Given the description of an element on the screen output the (x, y) to click on. 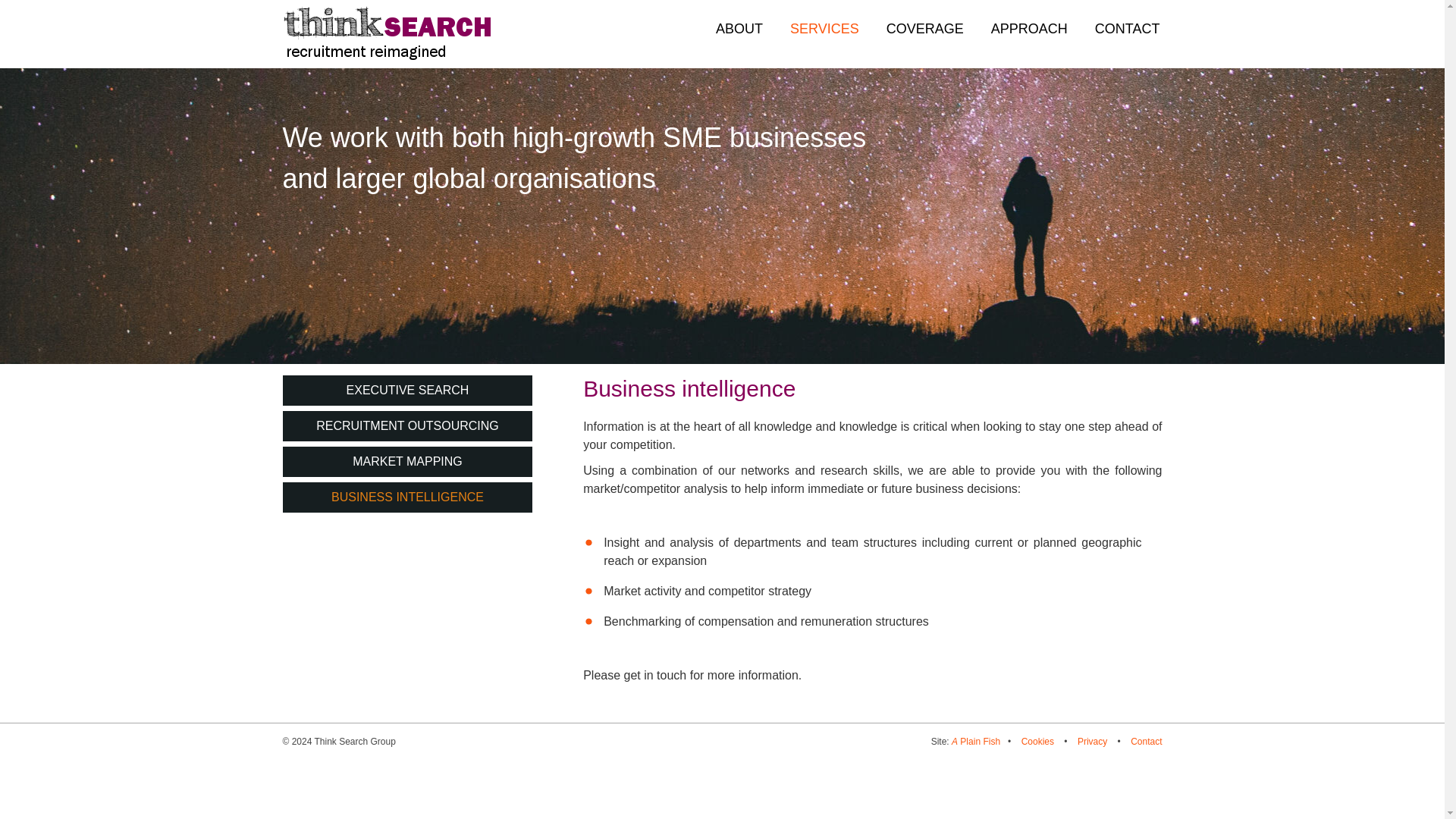
EXECUTIVE SEARCH (407, 390)
BUSINESS INTELLIGENCE (407, 497)
Cookies (1038, 741)
SERVICES (824, 28)
Contact (1146, 741)
Privacy (1091, 741)
COVERAGE (924, 28)
ABOUT (738, 28)
RECRUITMENT OUTSOURCING (407, 426)
APPROACH (1028, 28)
A Plain Fish (976, 741)
MARKET MAPPING (407, 461)
CONTACT (1127, 28)
